Given the description of an element on the screen output the (x, y) to click on. 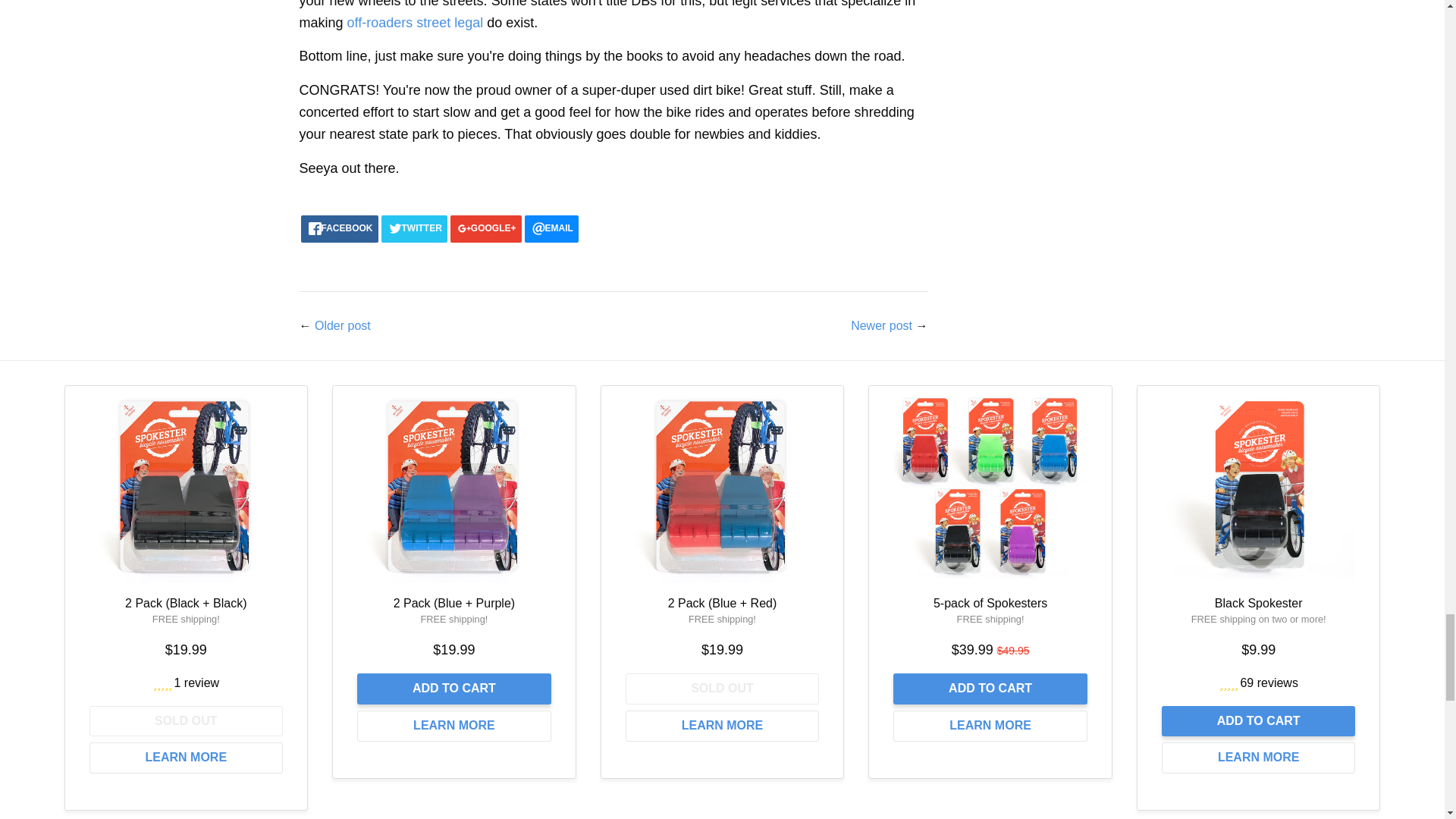
EMAIL (551, 228)
TWITTER (413, 228)
Newer post (881, 325)
off-roaders street legal (415, 22)
FACEBOOK (338, 228)
Older post (342, 325)
